Given the description of an element on the screen output the (x, y) to click on. 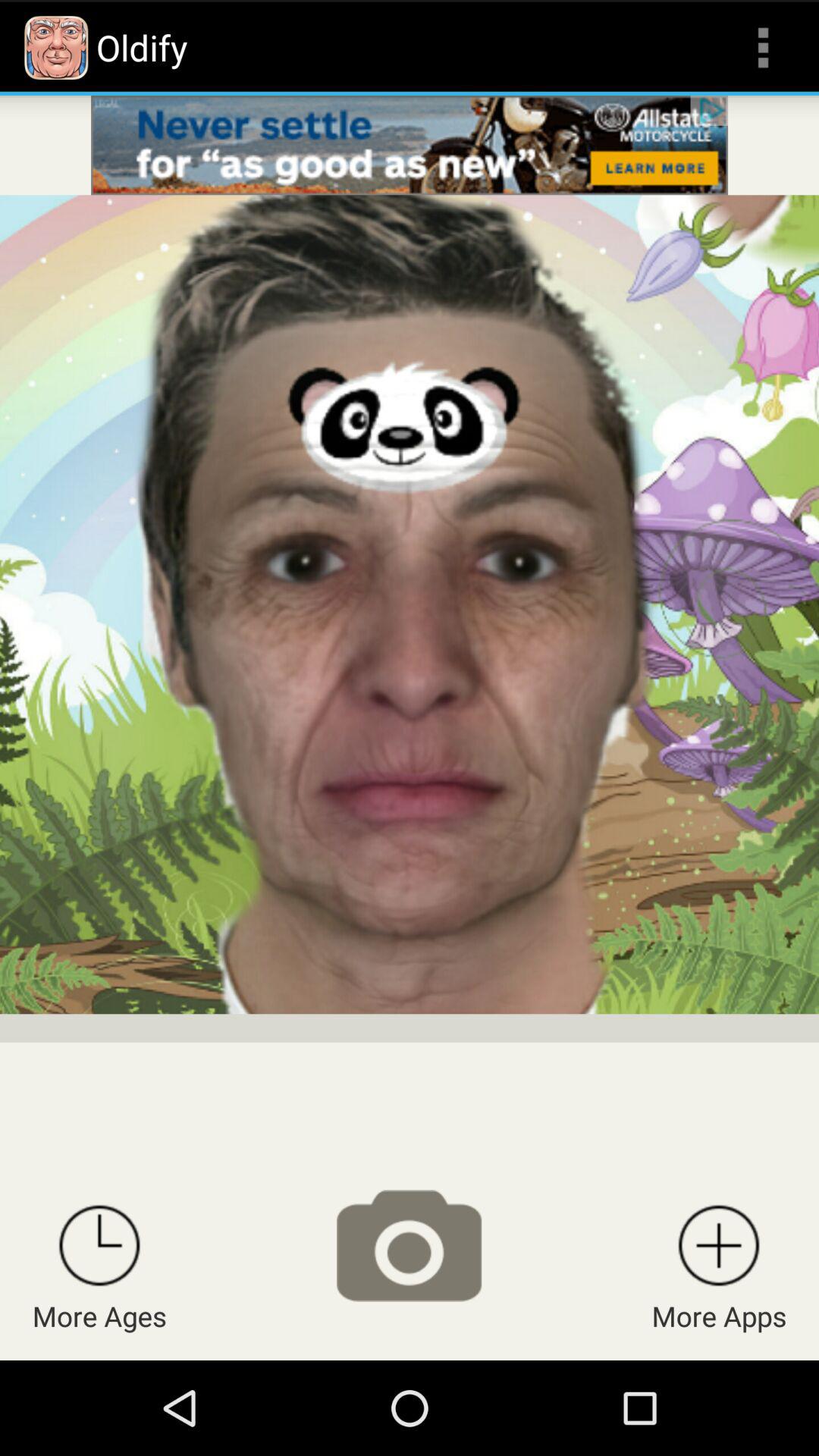
take a picture (408, 1245)
